Given the description of an element on the screen output the (x, y) to click on. 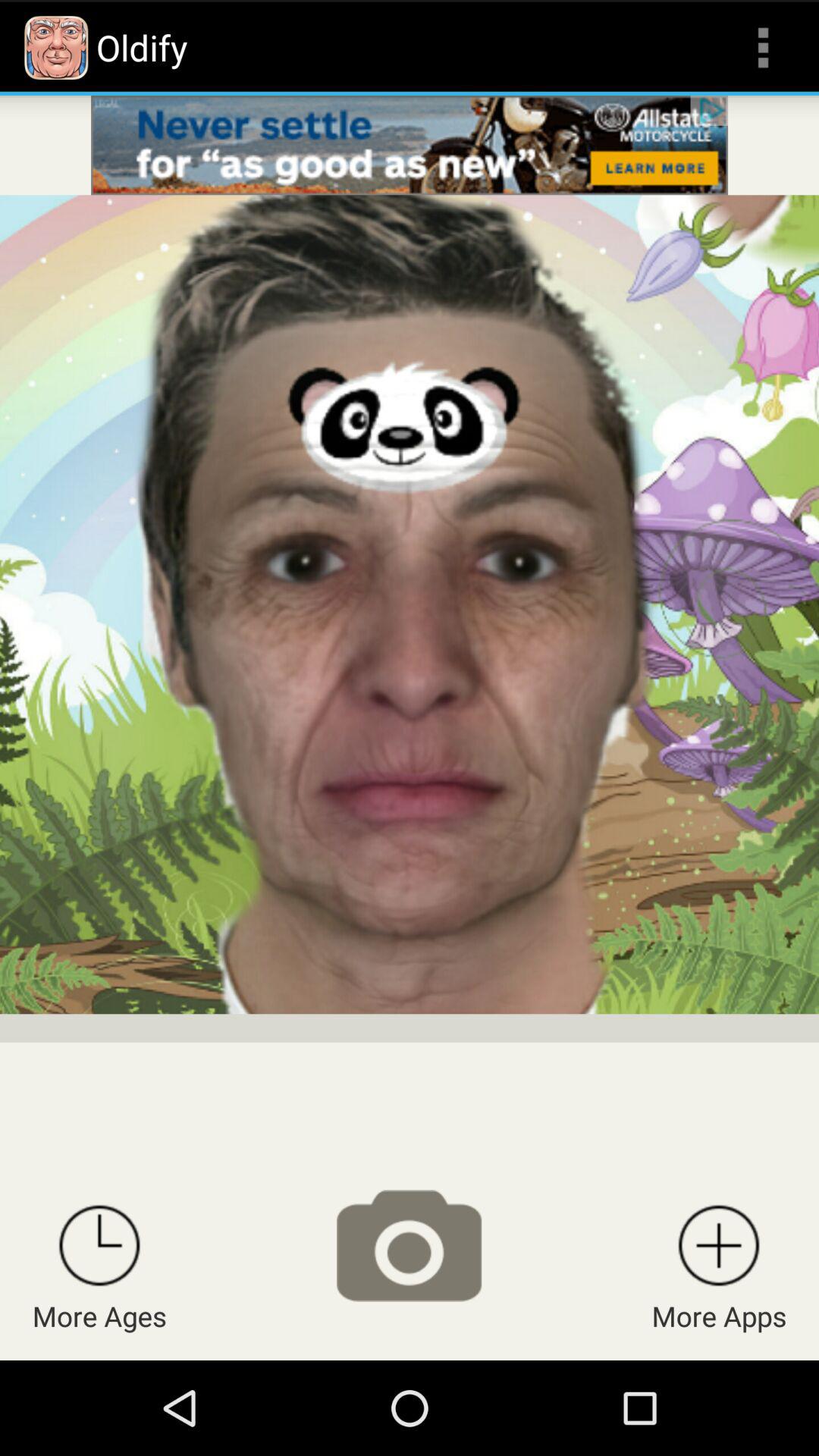
take a picture (408, 1245)
